Given the description of an element on the screen output the (x, y) to click on. 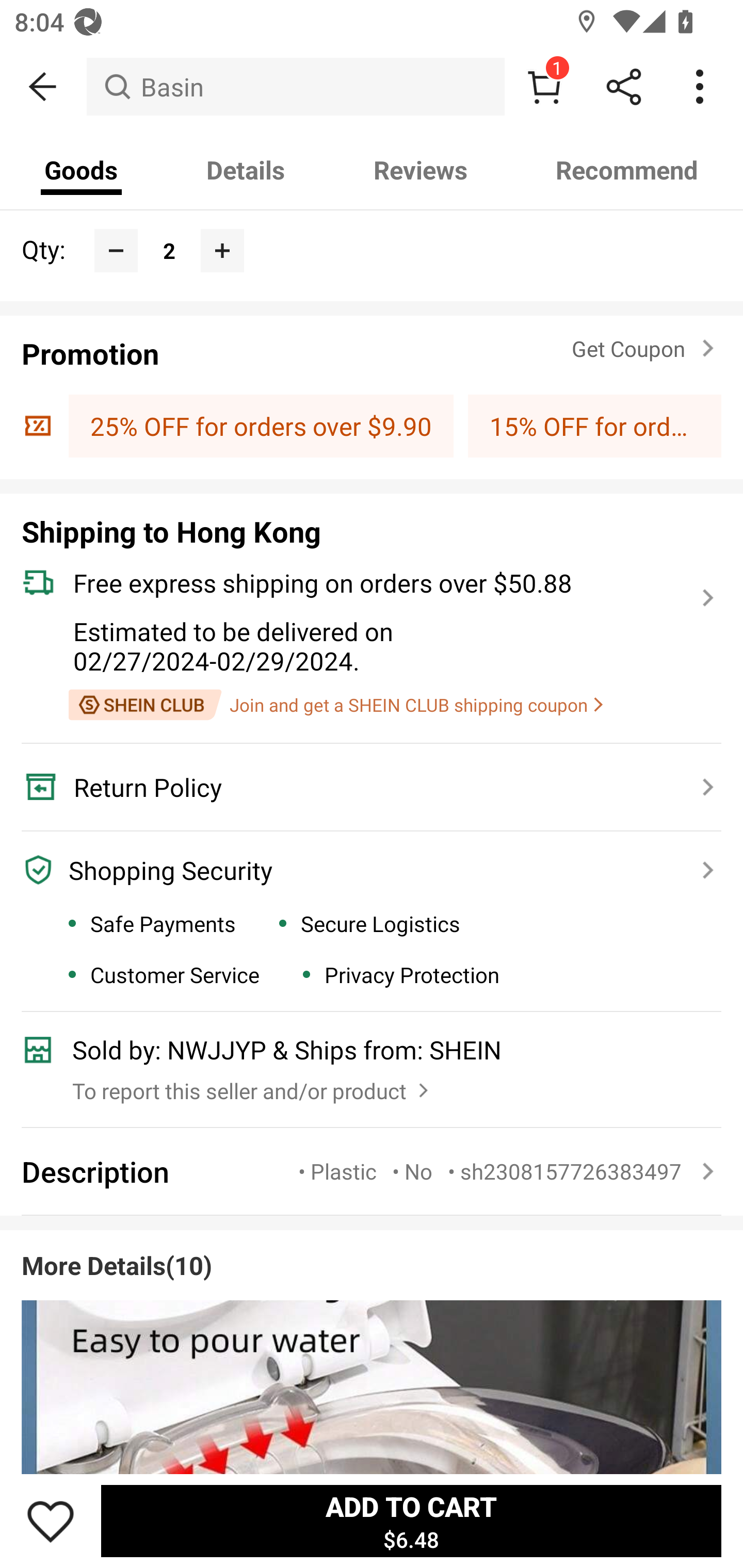
BACK (43, 86)
1 (543, 87)
Basin (295, 87)
Goods (81, 170)
Details (245, 170)
Reviews (420, 170)
Recommend (627, 170)
Join and get a SHEIN CLUB shipping coupon (335, 704)
Return Policy (359, 786)
To report this seller and/or product   (252, 1085)
More Details(10) (371, 1344)
ADD TO CART $6.48 (411, 1520)
Save (50, 1520)
